Given the description of an element on the screen output the (x, y) to click on. 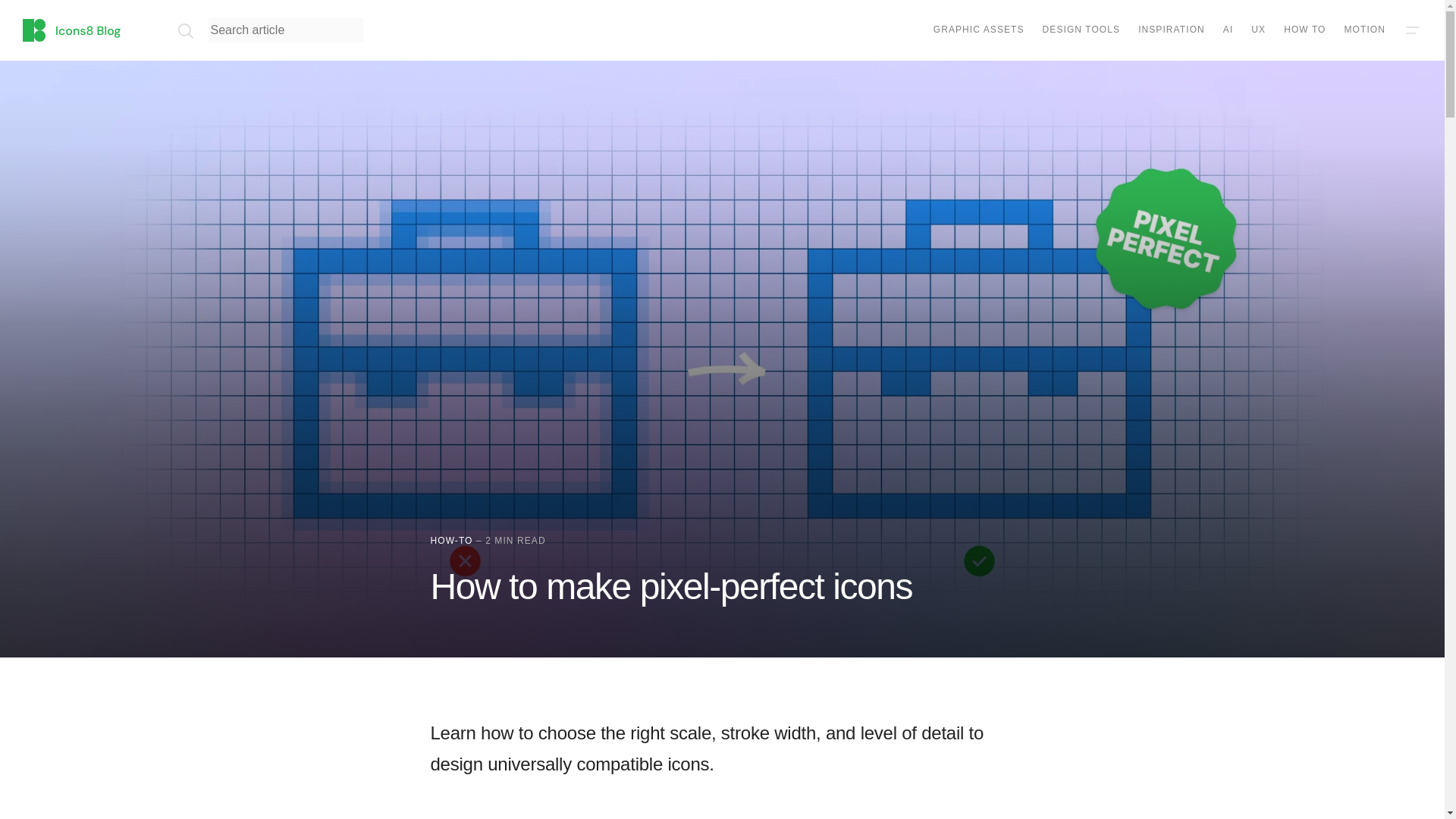
GRAPHIC ASSETS (979, 29)
INSPIRATION (1171, 29)
HOW TO (1304, 29)
MOTION (1364, 29)
DESIGN TOOLS (1081, 29)
AI (1228, 29)
UX (1257, 29)
